Given the description of an element on the screen output the (x, y) to click on. 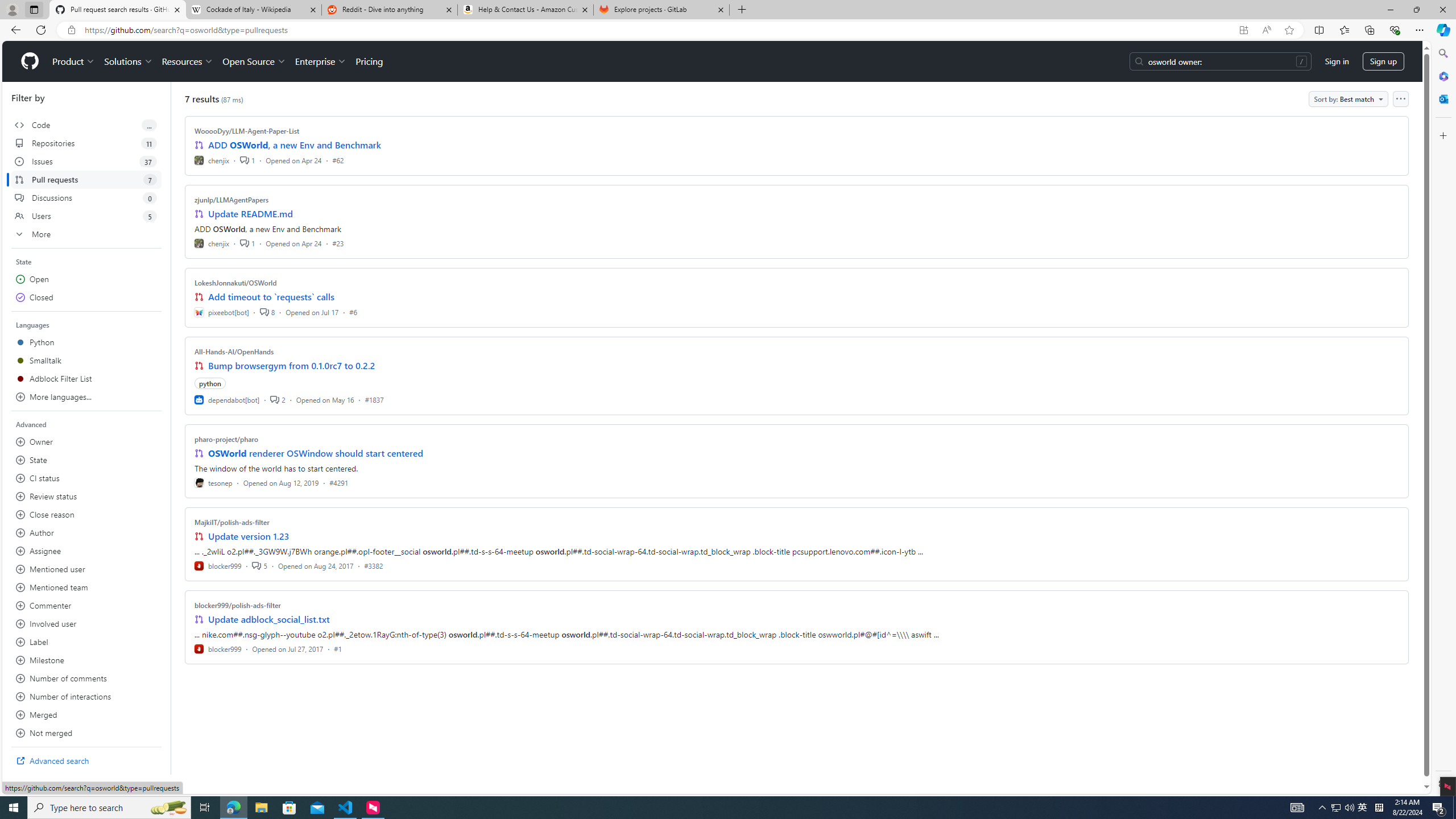
MajkiIT/polish-ads-filter (232, 521)
Solutions (128, 60)
Solutions (128, 60)
#3382 (373, 565)
OSWorld renderer OSWindow should start centered (315, 453)
Enterprise (319, 60)
